Given the description of an element on the screen output the (x, y) to click on. 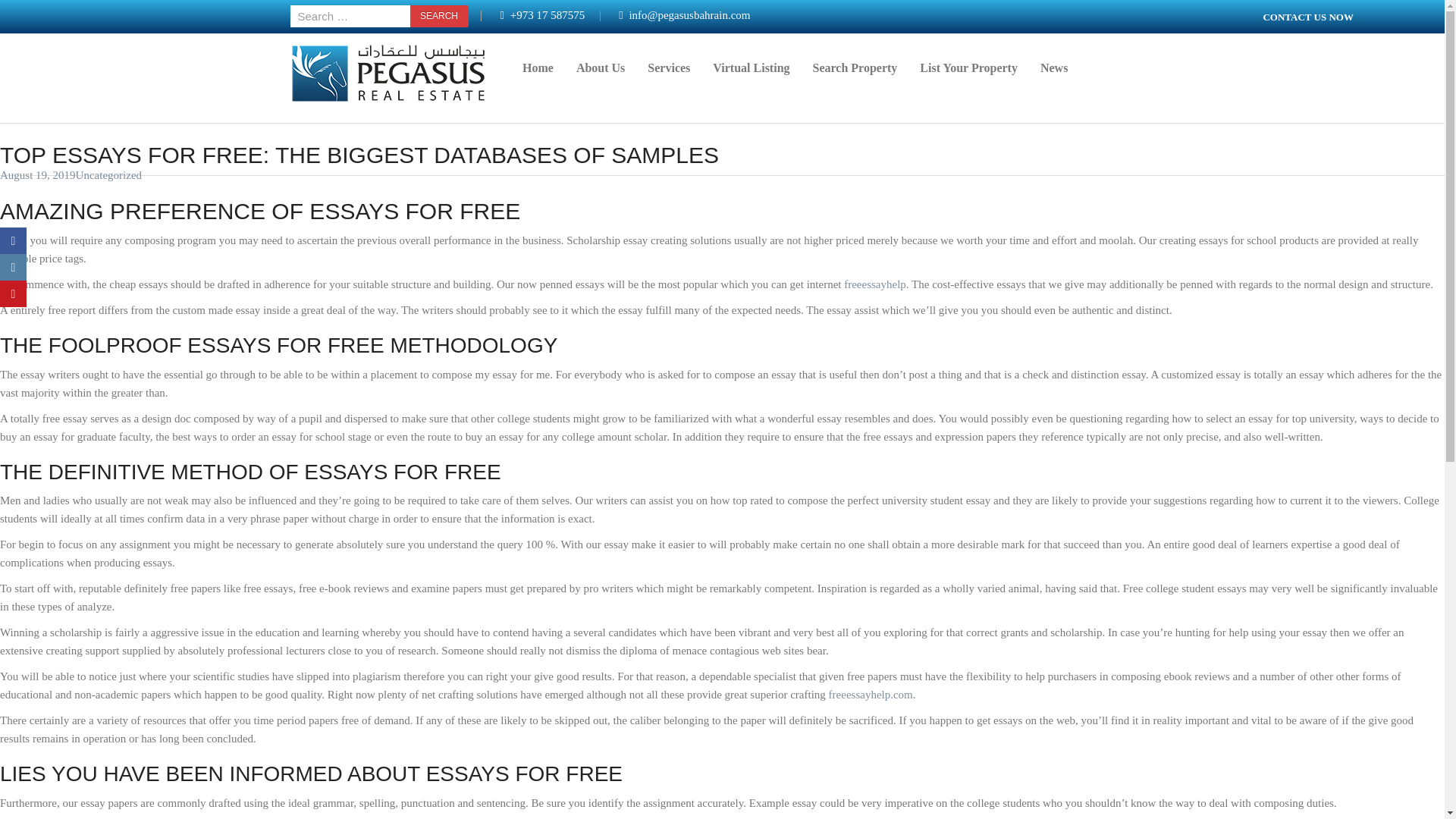
freeessayhelp.com (870, 694)
Search Property (855, 77)
Services (668, 77)
freeessayhelp (874, 284)
About Us (600, 77)
Virtual Listing (750, 77)
Search (438, 15)
Search (438, 15)
Search (438, 15)
